Given the description of an element on the screen output the (x, y) to click on. 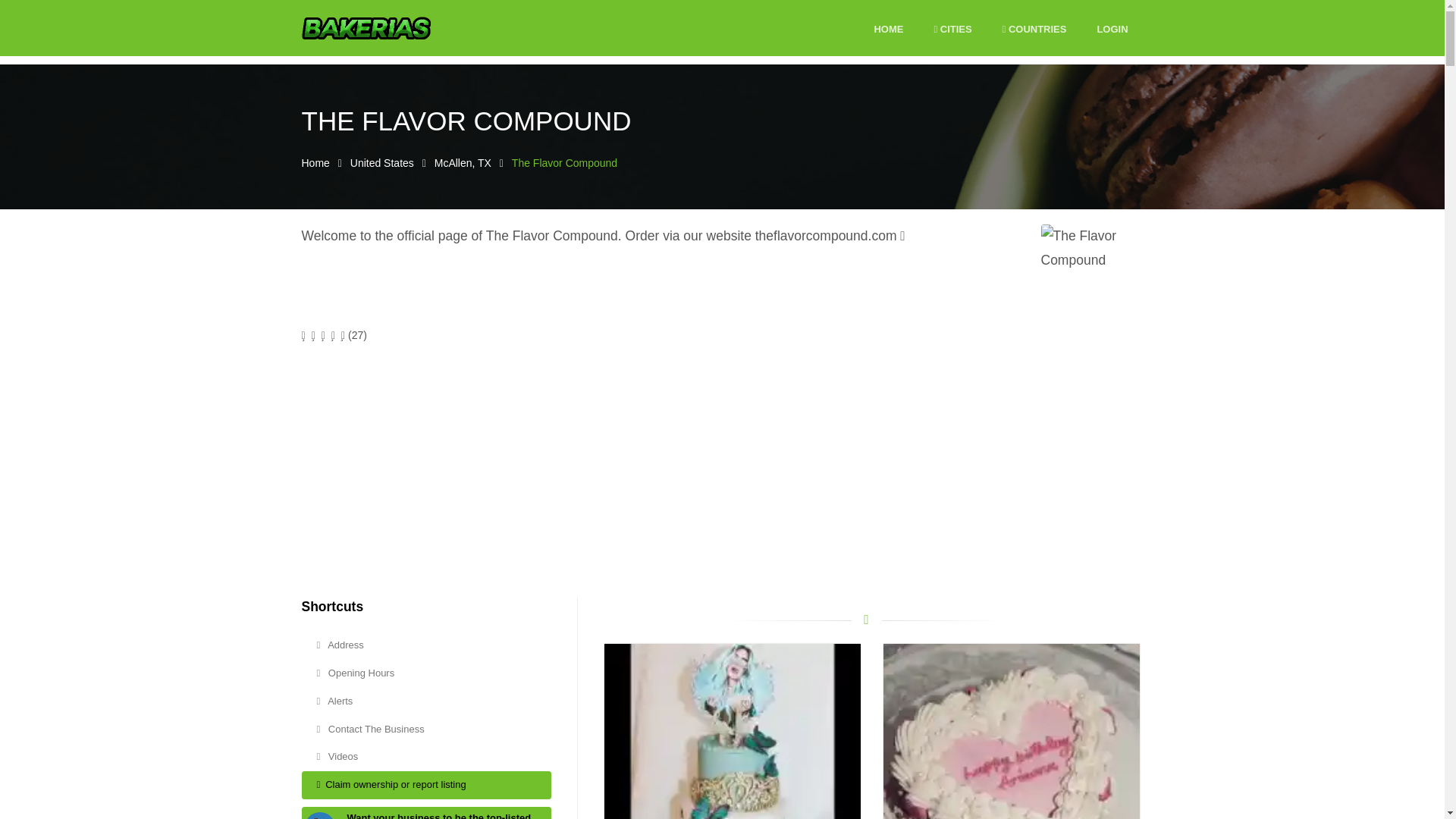
Alerts (426, 701)
Contact The Business (426, 729)
HOME (887, 29)
Opening Hours (426, 673)
Claim ownership or report listing (426, 785)
McAllen, TX (462, 162)
Videos (426, 756)
Want your business to be the top-listed Bakery in McAllen? (438, 815)
United States (381, 162)
Home (315, 162)
Address (426, 645)
CITIES (952, 29)
